Given the description of an element on the screen output the (x, y) to click on. 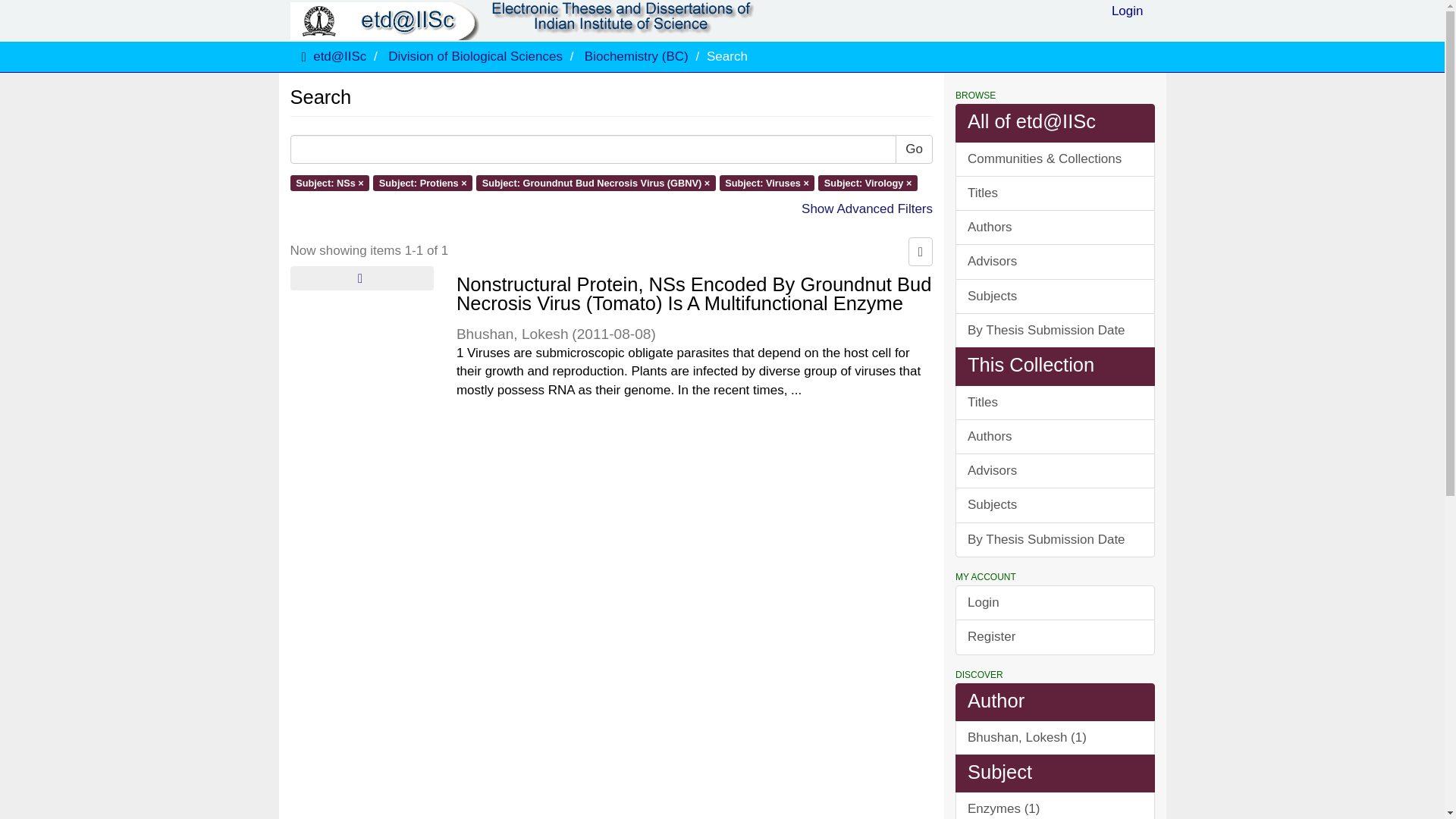
Login (1127, 15)
Division of Biological Sciences (475, 56)
Show Advanced Filters (867, 208)
Go (914, 149)
